Given the description of an element on the screen output the (x, y) to click on. 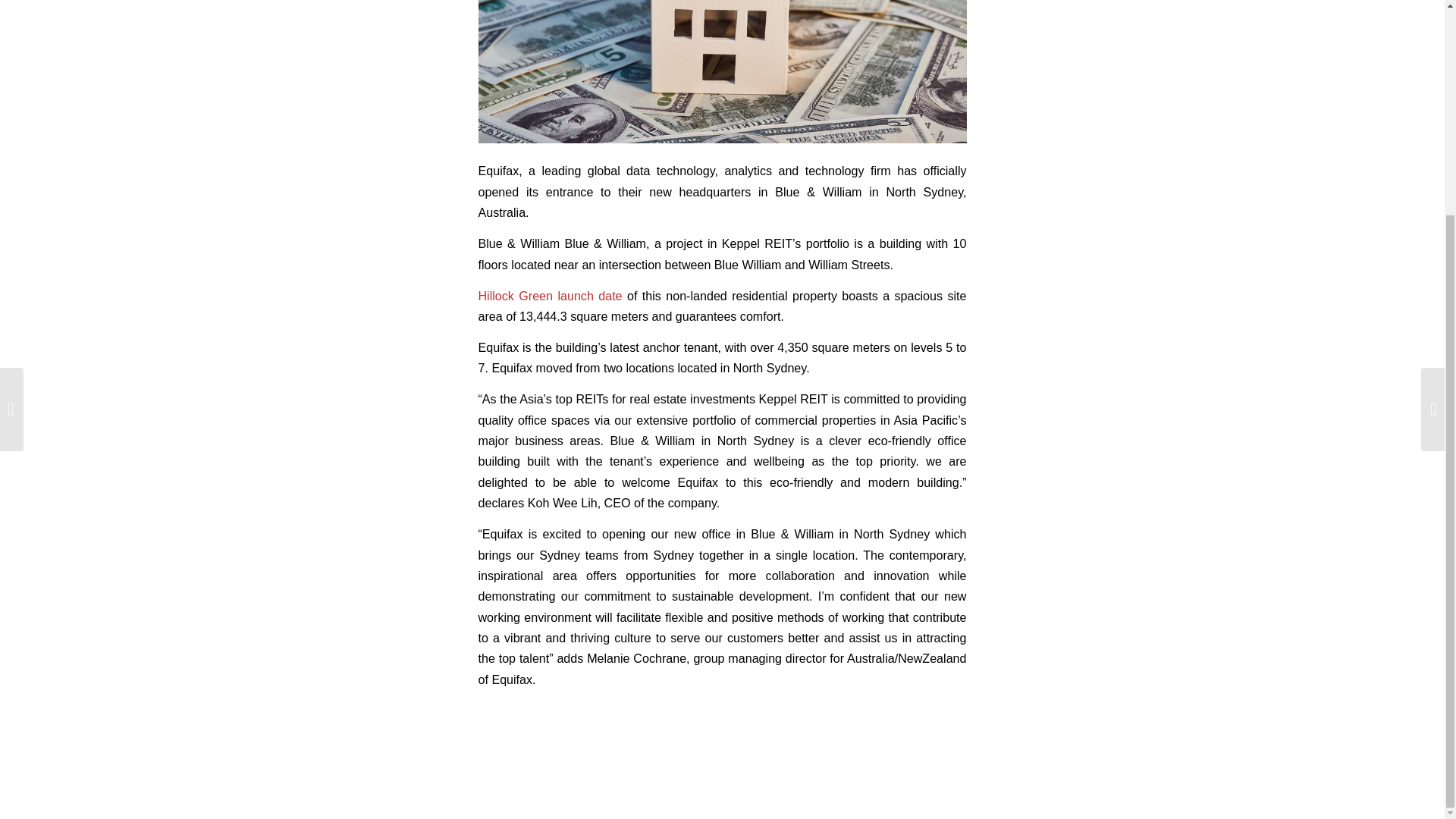
Hillock Green launch date (549, 295)
